Given the description of an element on the screen output the (x, y) to click on. 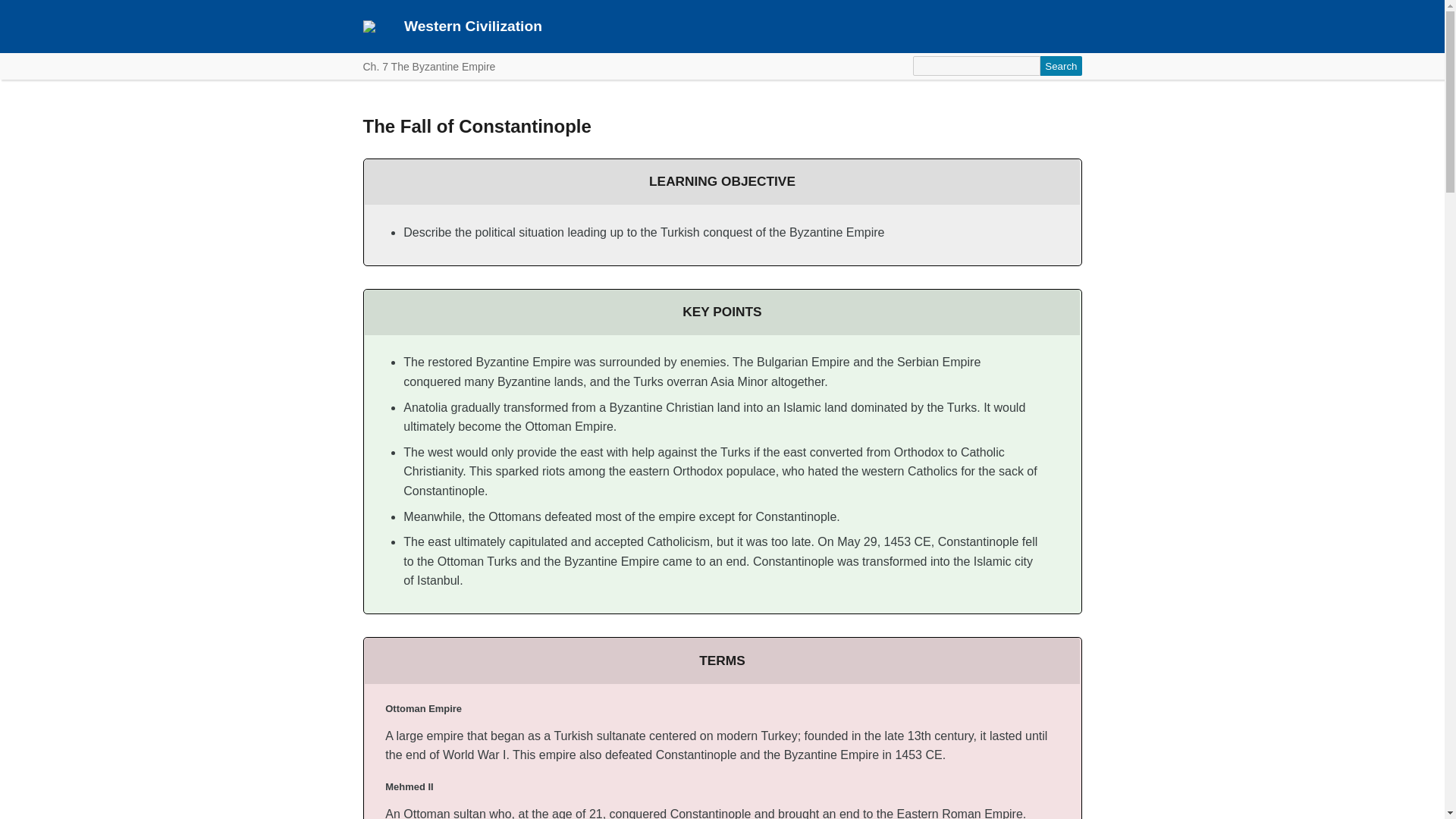
Western Civilization (472, 26)
Search (1061, 66)
Search (1061, 66)
Western Civilization (472, 26)
